Given the description of an element on the screen output the (x, y) to click on. 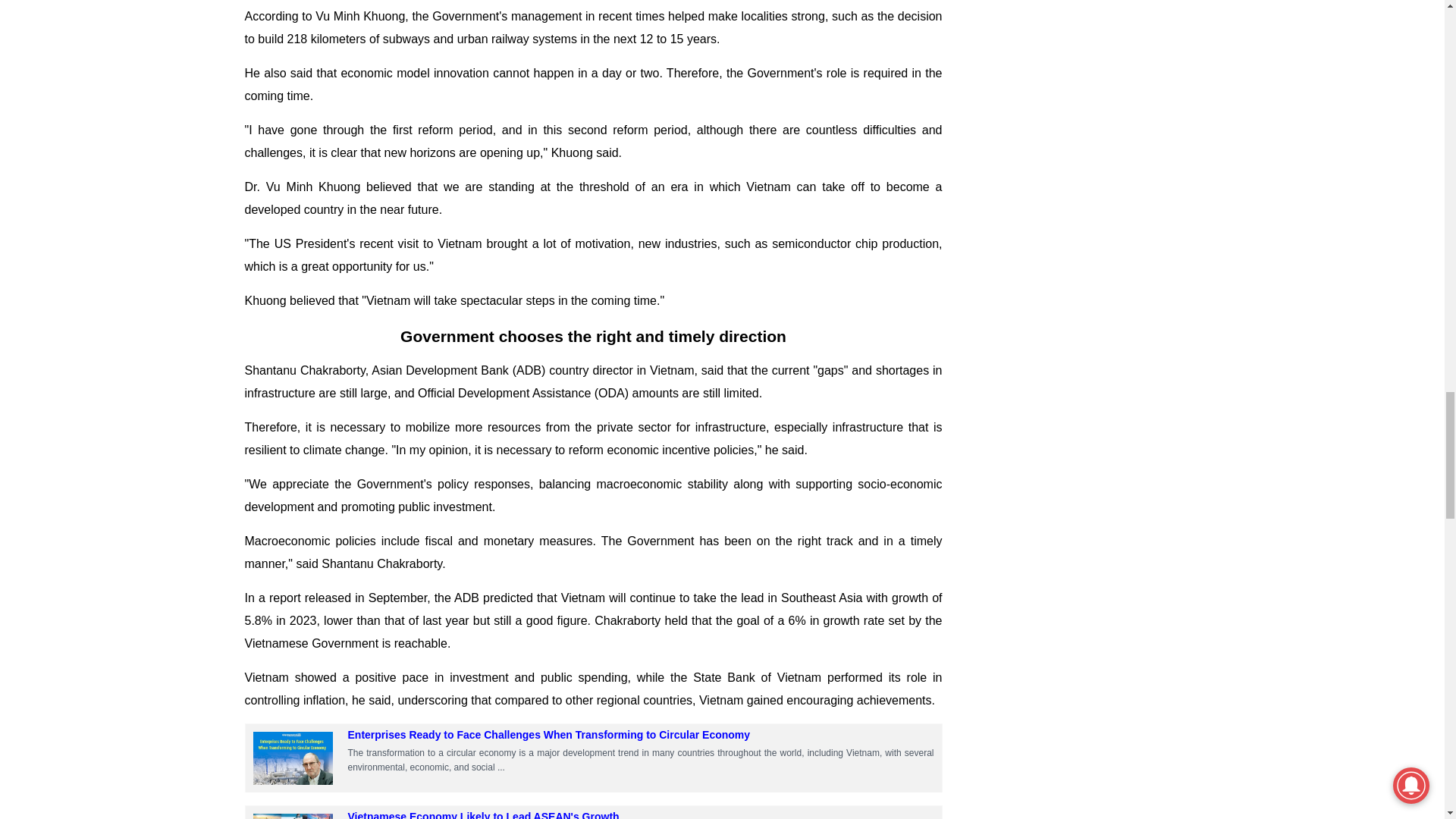
Vietnamese Economy Likely to Lead ASEAN's Growth (482, 814)
Vietnamese Economy Likely to Lead ASEAN's Growth (482, 814)
Vietnamese Economy Likely to Lead ASEAN's Growth (293, 816)
Vietnamese Economy Likely to Lead ASEAN's Growth (293, 816)
